Given the description of an element on the screen output the (x, y) to click on. 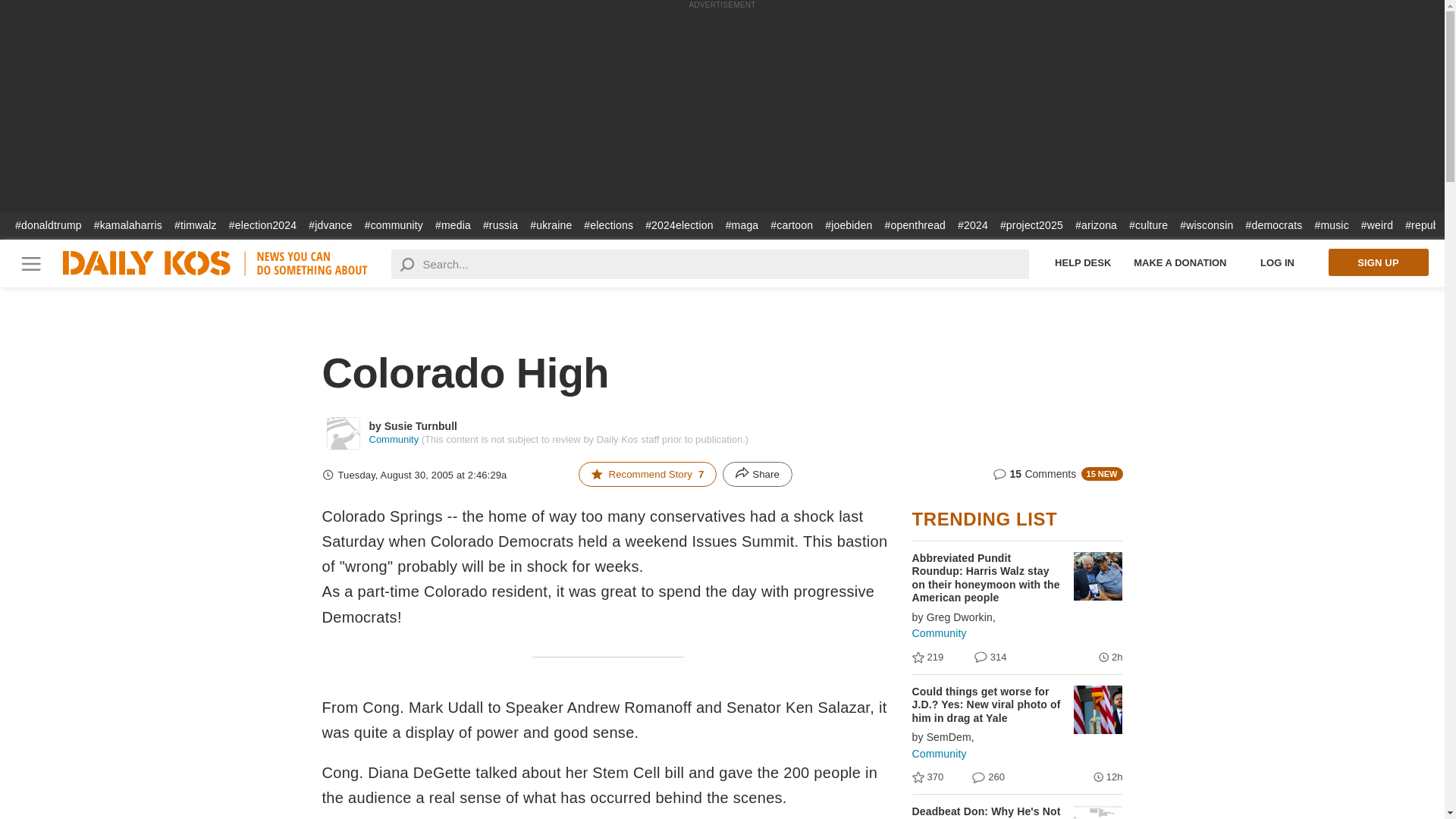
Make a Donation (1179, 262)
MAKE A DONATION (1179, 262)
Help Desk (1082, 262)
